Given the description of an element on the screen output the (x, y) to click on. 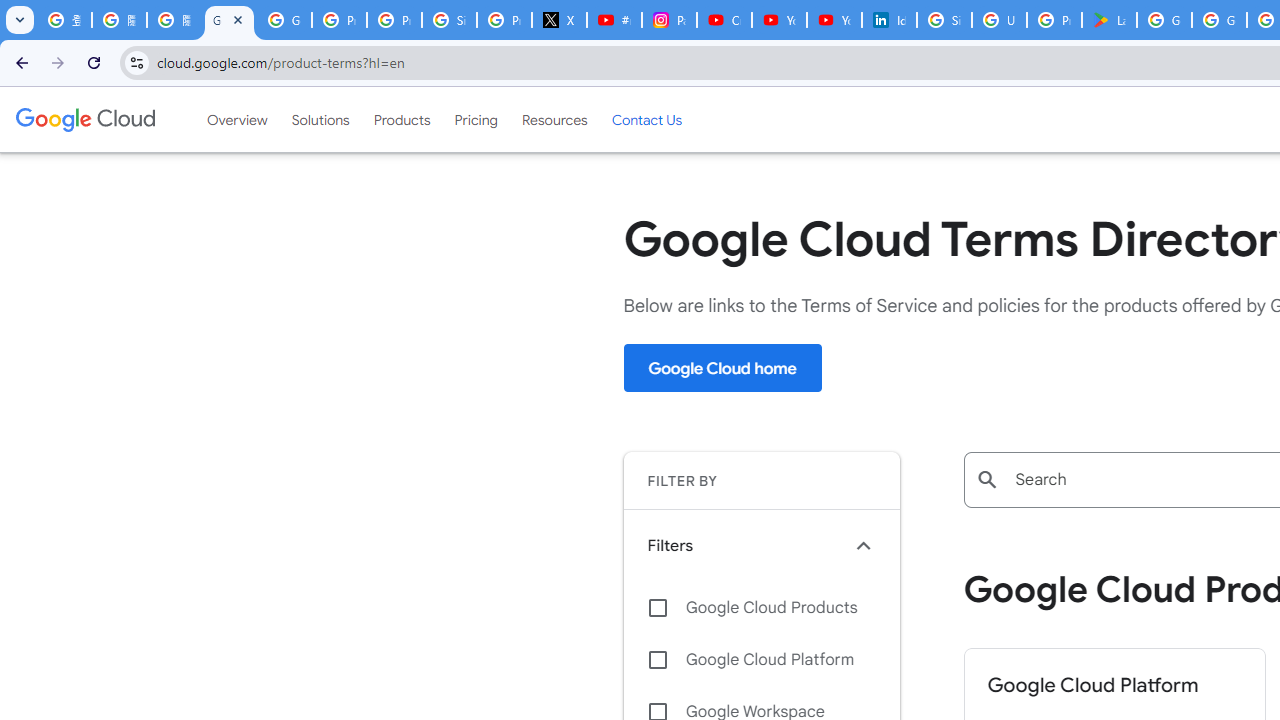
X (559, 20)
YouTube Culture & Trends - YouTube Top 10, 2021 (833, 20)
Google Workspace - Specific Terms (1218, 20)
Sign in - Google Accounts (943, 20)
Google Cloud (84, 119)
Contact Us (646, 119)
